Given the description of an element on the screen output the (x, y) to click on. 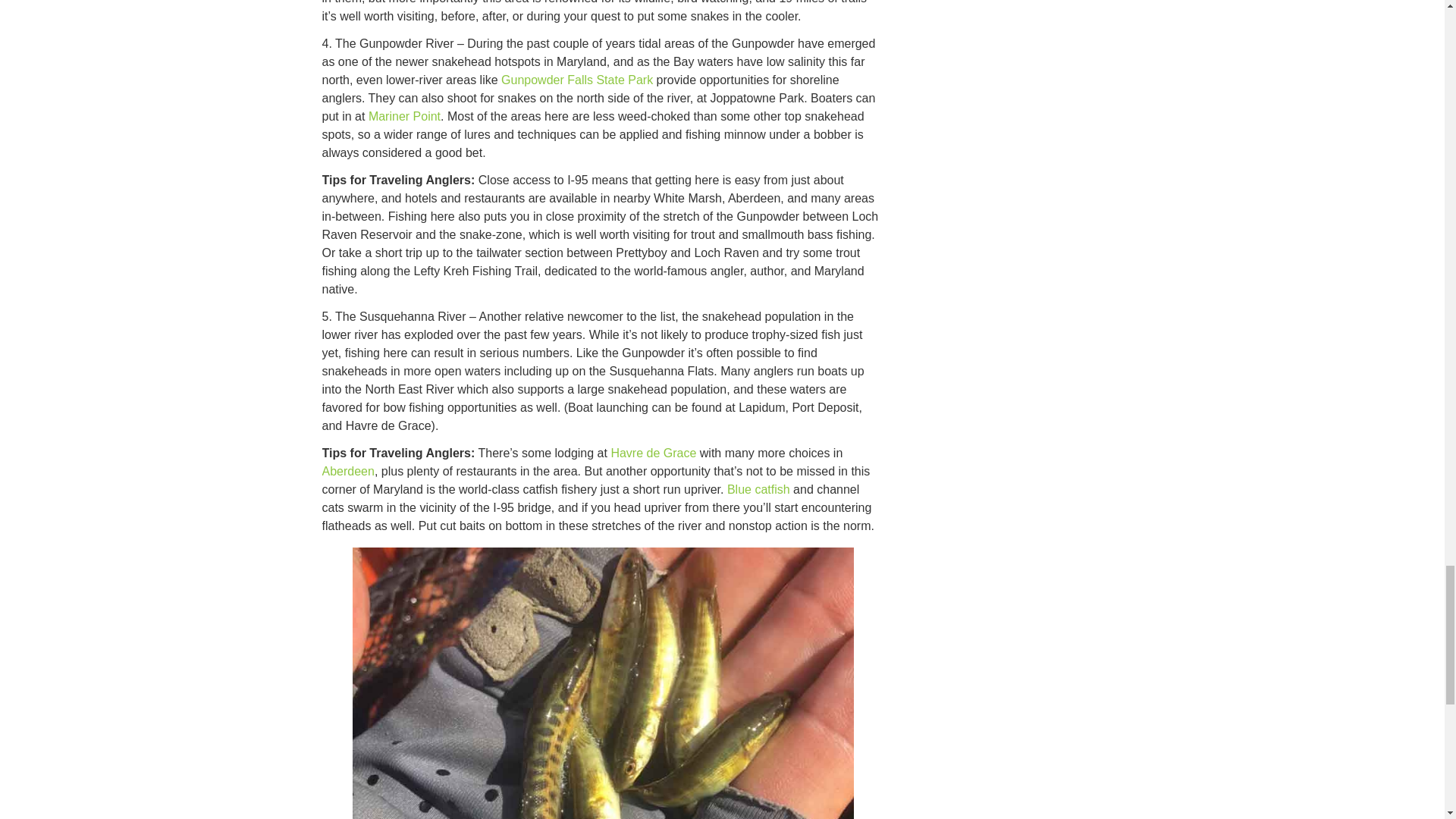
Gunpowder Falls State Park (576, 79)
Mariner Point (404, 115)
Blue catfish (758, 489)
Aberdeen (347, 471)
Havre de Grace (652, 452)
